Given the description of an element on the screen output the (x, y) to click on. 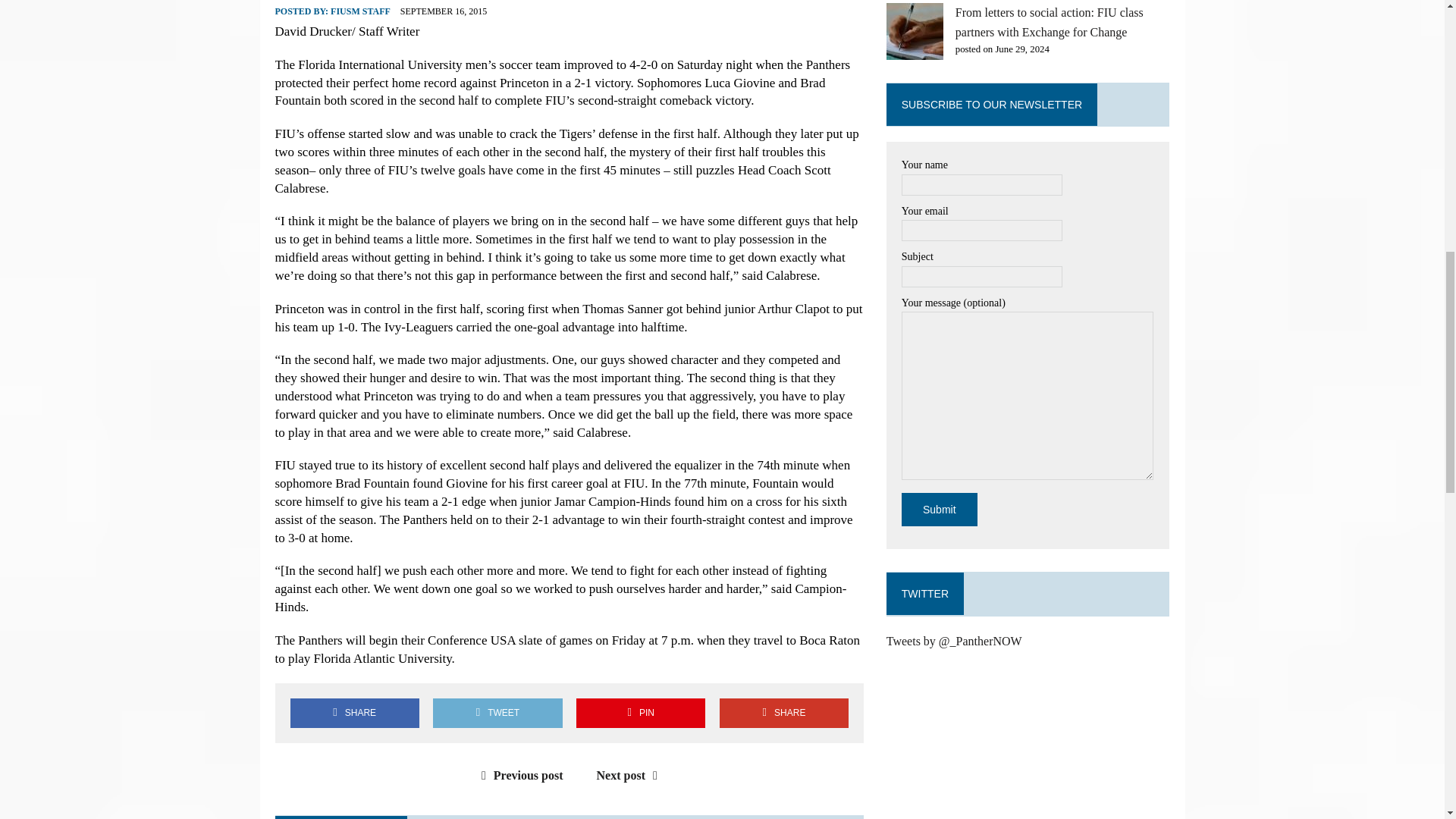
Tweet This Post (497, 713)
Share on Facebook (354, 713)
Pin This Post (640, 713)
Submit (938, 509)
